Given the description of an element on the screen output the (x, y) to click on. 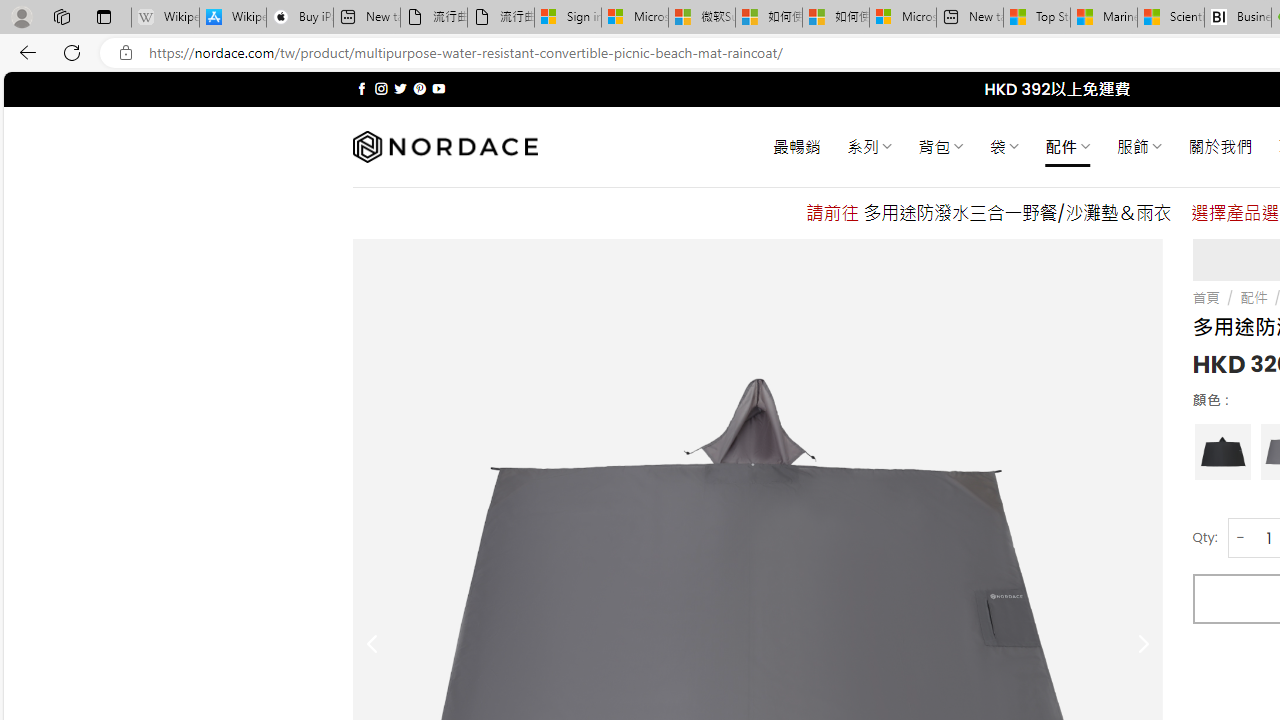
Follow on Twitter (400, 88)
Follow on Pinterest (419, 88)
